Given the description of an element on the screen output the (x, y) to click on. 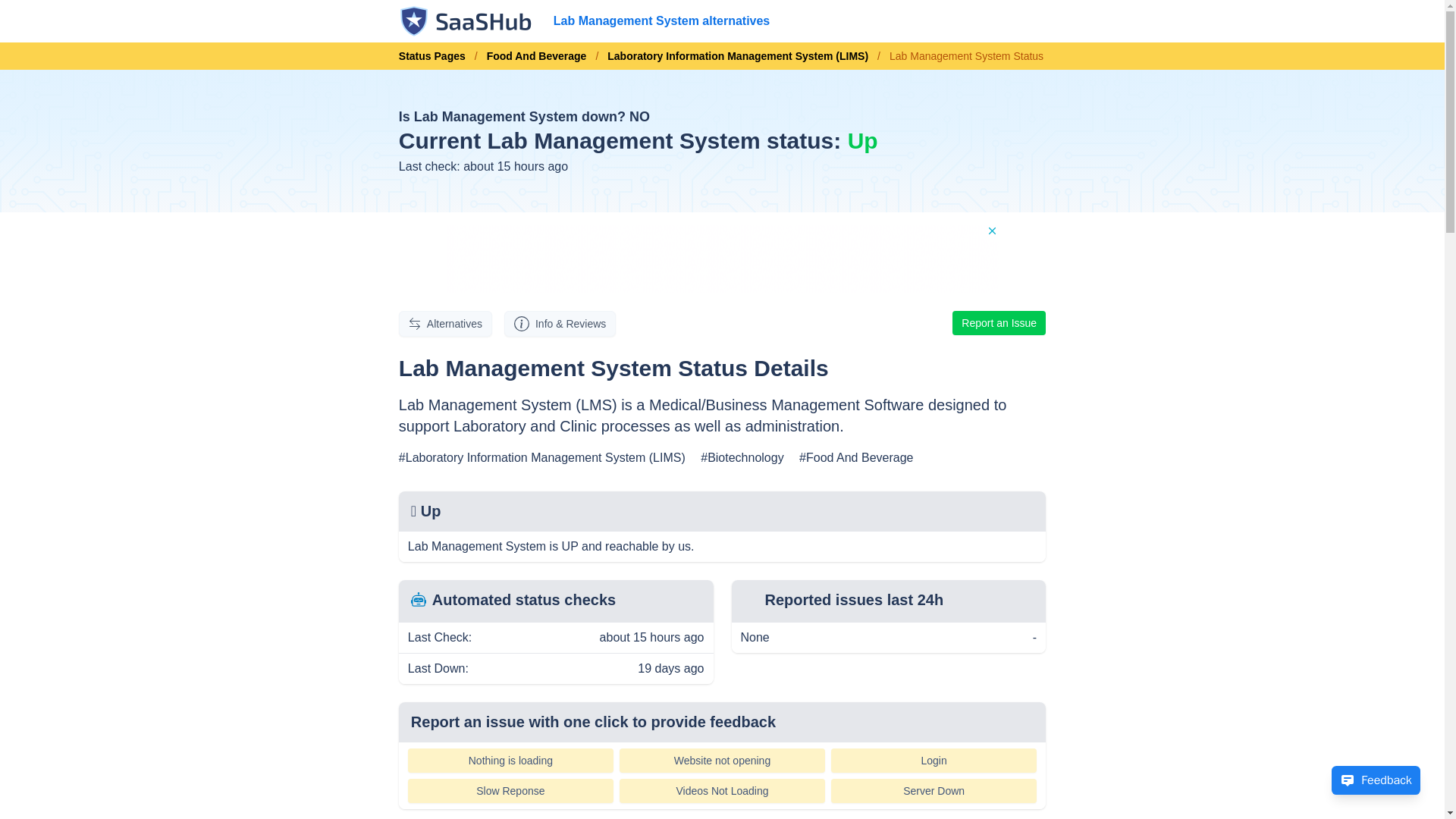
Server Down (933, 790)
Report an Issue (998, 322)
Website not opening (722, 760)
Nothing is loading (509, 760)
Status Pages (436, 55)
Alternatives to Lab Management System (445, 323)
3rd party ad content (721, 258)
Alternatives (445, 323)
Give feedback (1376, 779)
Slow Reponse (509, 790)
Lab Management System alternatives (661, 21)
Login (933, 760)
Feedback (1376, 779)
Lab Management System details and reviews (559, 323)
Videos Not Loading (722, 790)
